Given the description of an element on the screen output the (x, y) to click on. 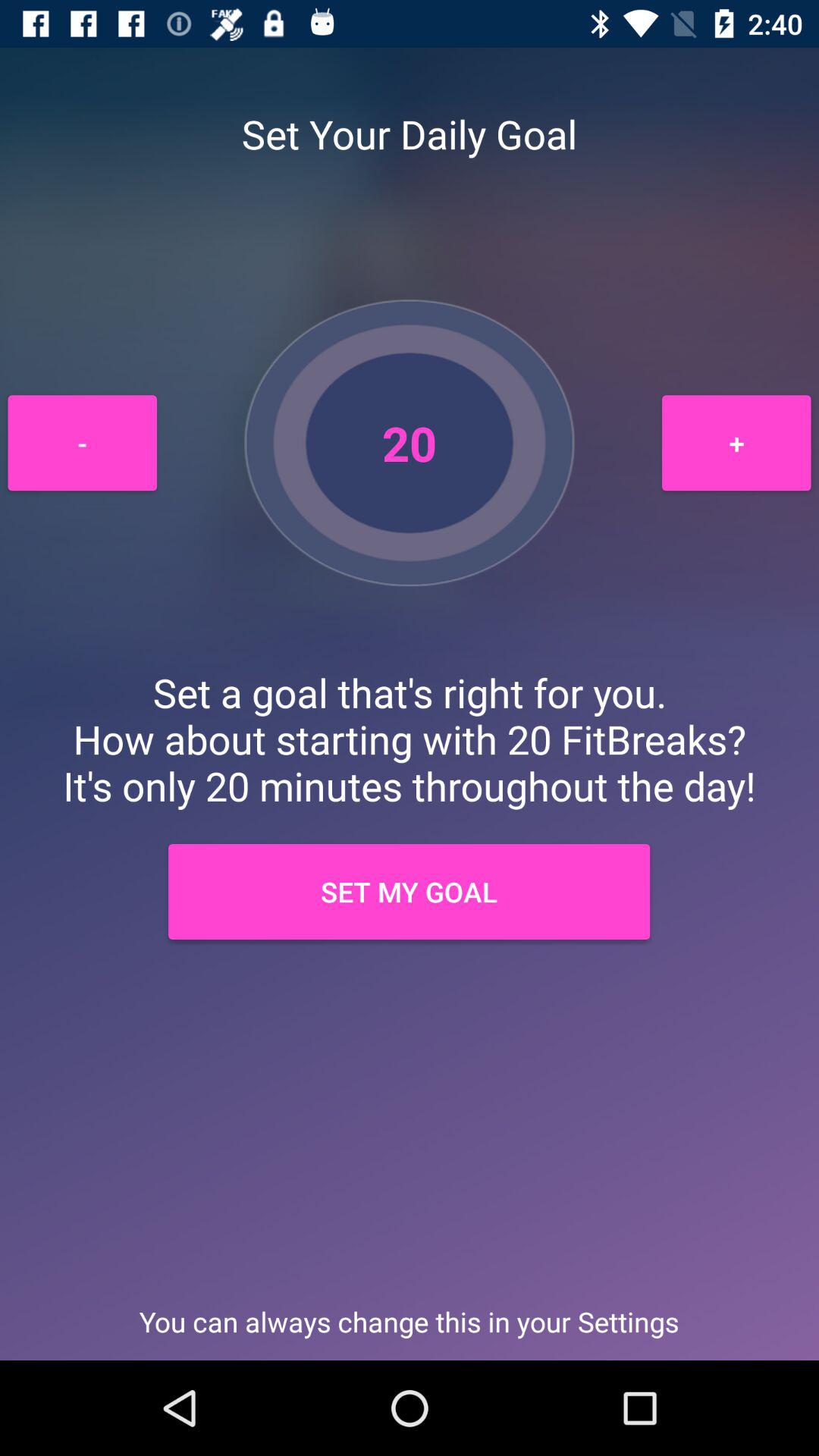
launch the - icon (82, 442)
